Given the description of an element on the screen output the (x, y) to click on. 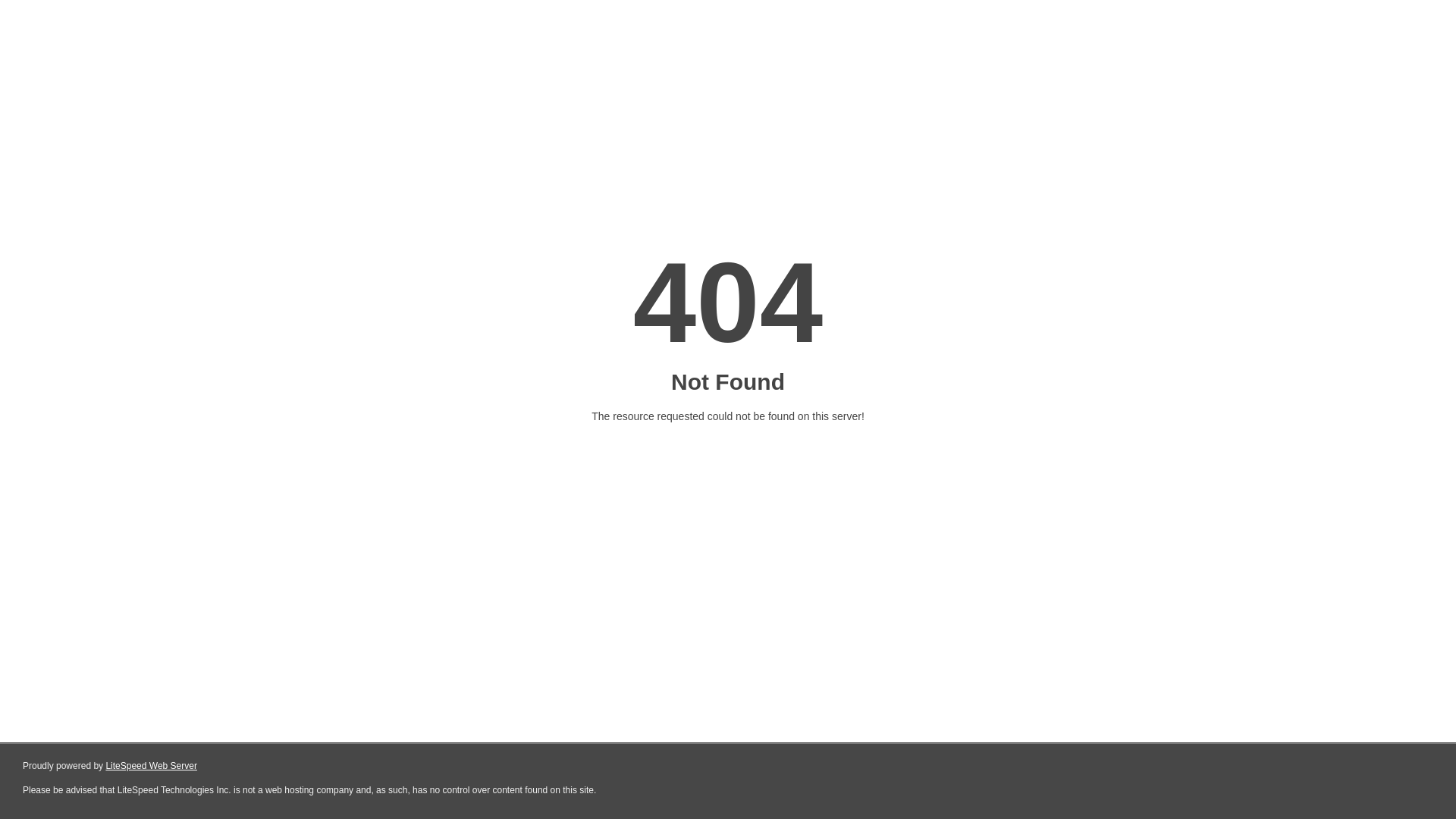
LiteSpeed Web Server Element type: text (151, 765)
